Given the description of an element on the screen output the (x, y) to click on. 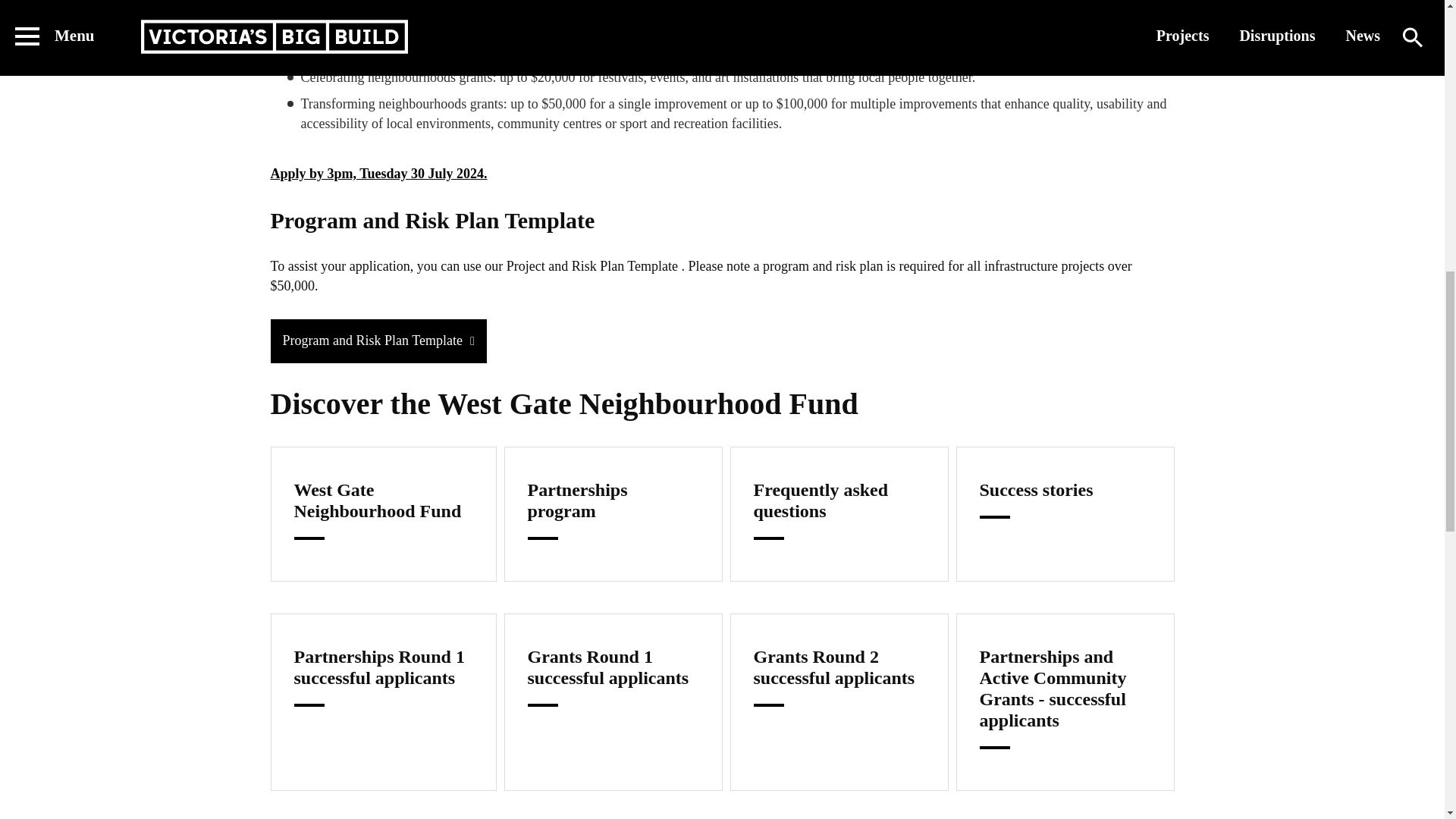
West Gate Neighbourhood Fund (382, 513)
Grants Round 1 successful applicants (612, 702)
Success stories (1064, 513)
Partnerships Round 1 successful applicants (382, 702)
Partnerships program (612, 513)
Frequently asked questions (838, 513)
Grants Round 2 successful applicants (838, 702)
